Given the description of an element on the screen output the (x, y) to click on. 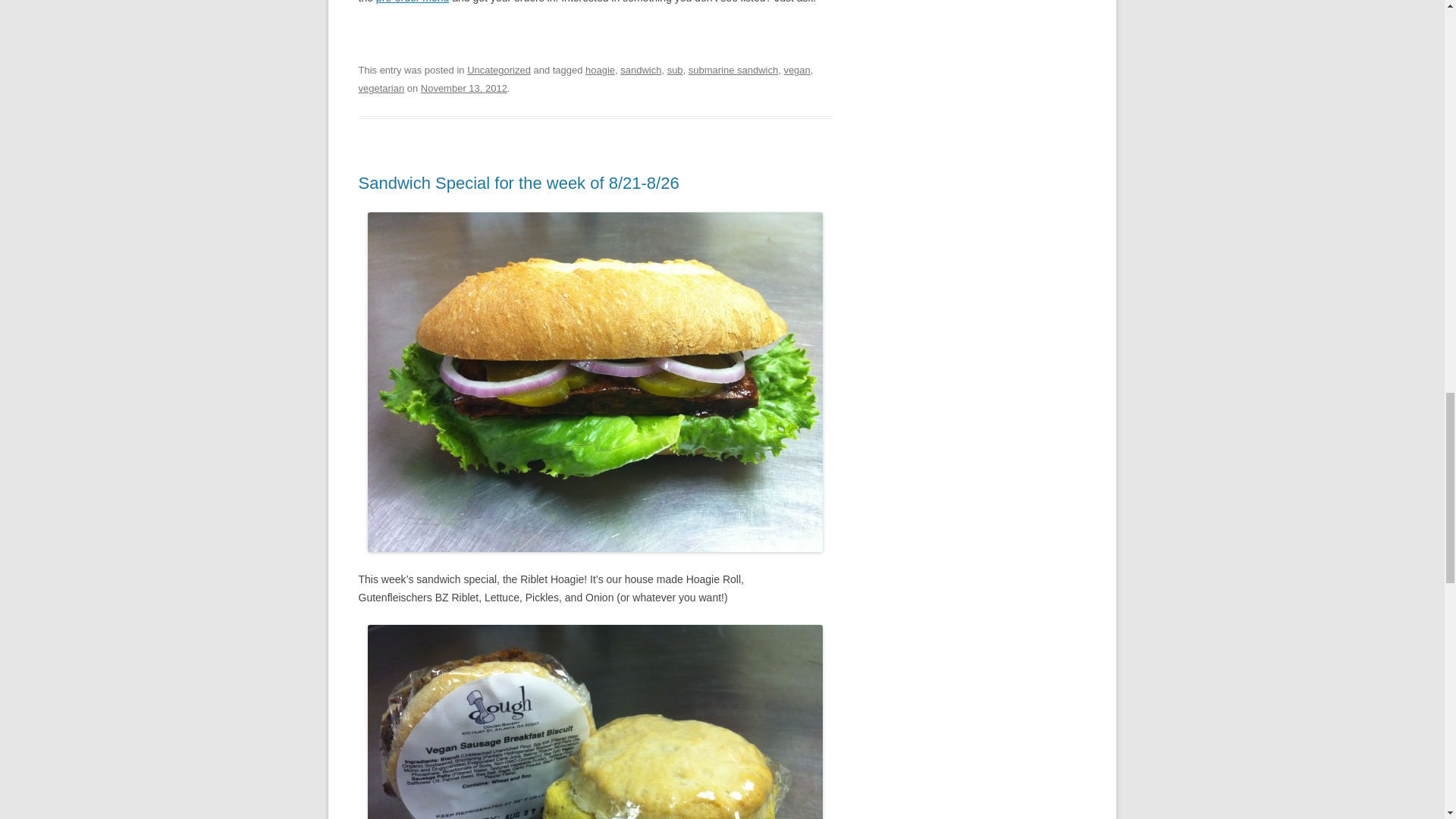
vegan (796, 70)
breakfast biscuits (595, 721)
pre-order menu (412, 2)
submarine sandwich (732, 70)
hoagie (599, 70)
12:55 pm (463, 88)
sandwich (640, 70)
vegetarian (381, 88)
November 13, 2012 (463, 88)
Uncategorized (499, 70)
sub (674, 70)
